Given the description of an element on the screen output the (x, y) to click on. 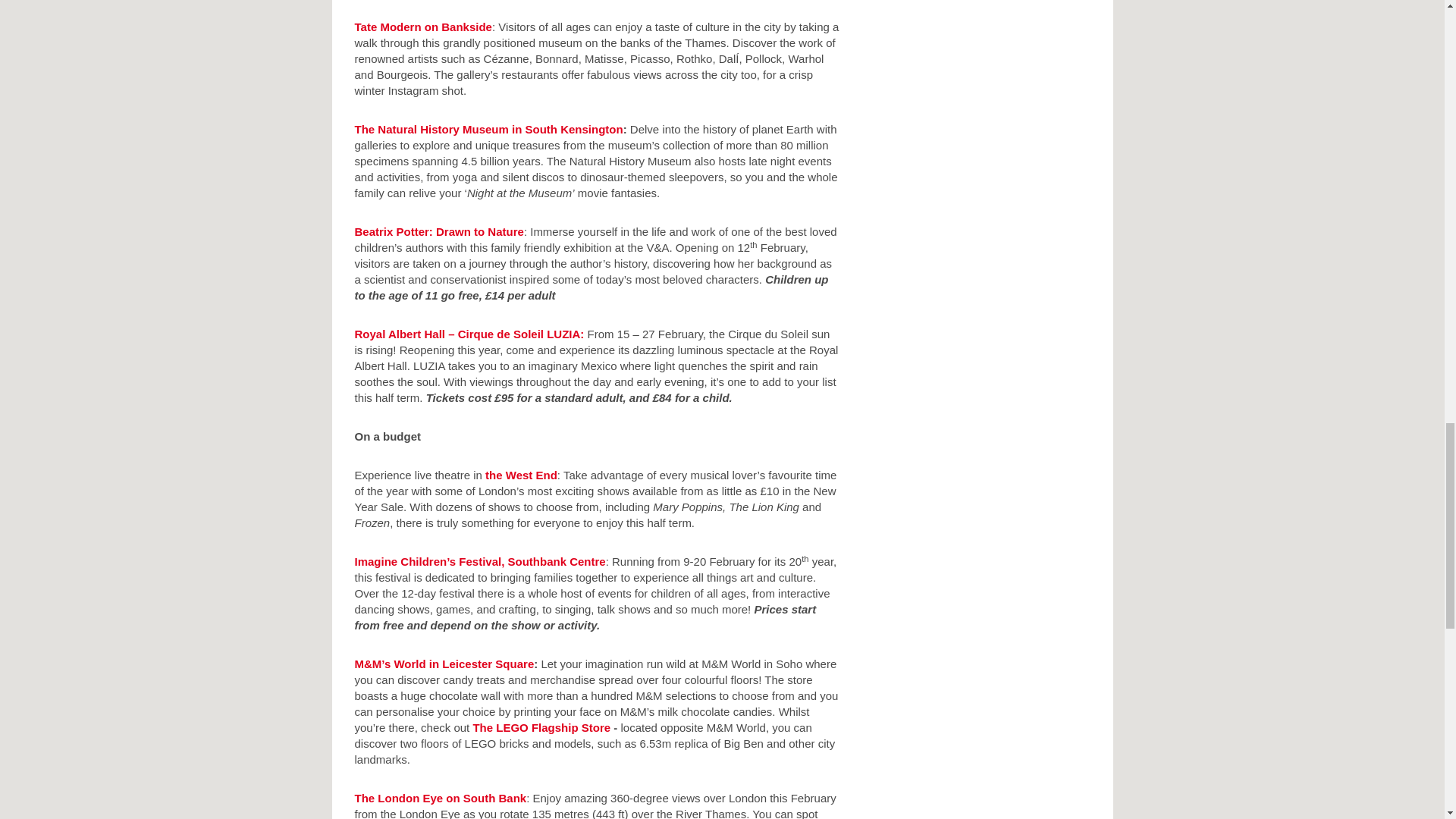
Link will open in a new window (439, 231)
Link will open in a new window (470, 333)
Tate Modern on Bankside (423, 26)
Link will open in a new window (423, 26)
Link will open in a new window (489, 128)
The London Eye on South Bank (441, 797)
the West End (520, 474)
The Natural History Museum in South Kensington (489, 128)
Link will open in a new window (520, 474)
The LEGO Flagship Store (540, 727)
Beatrix Potter: Drawn to Nature (439, 231)
